Given the description of an element on the screen output the (x, y) to click on. 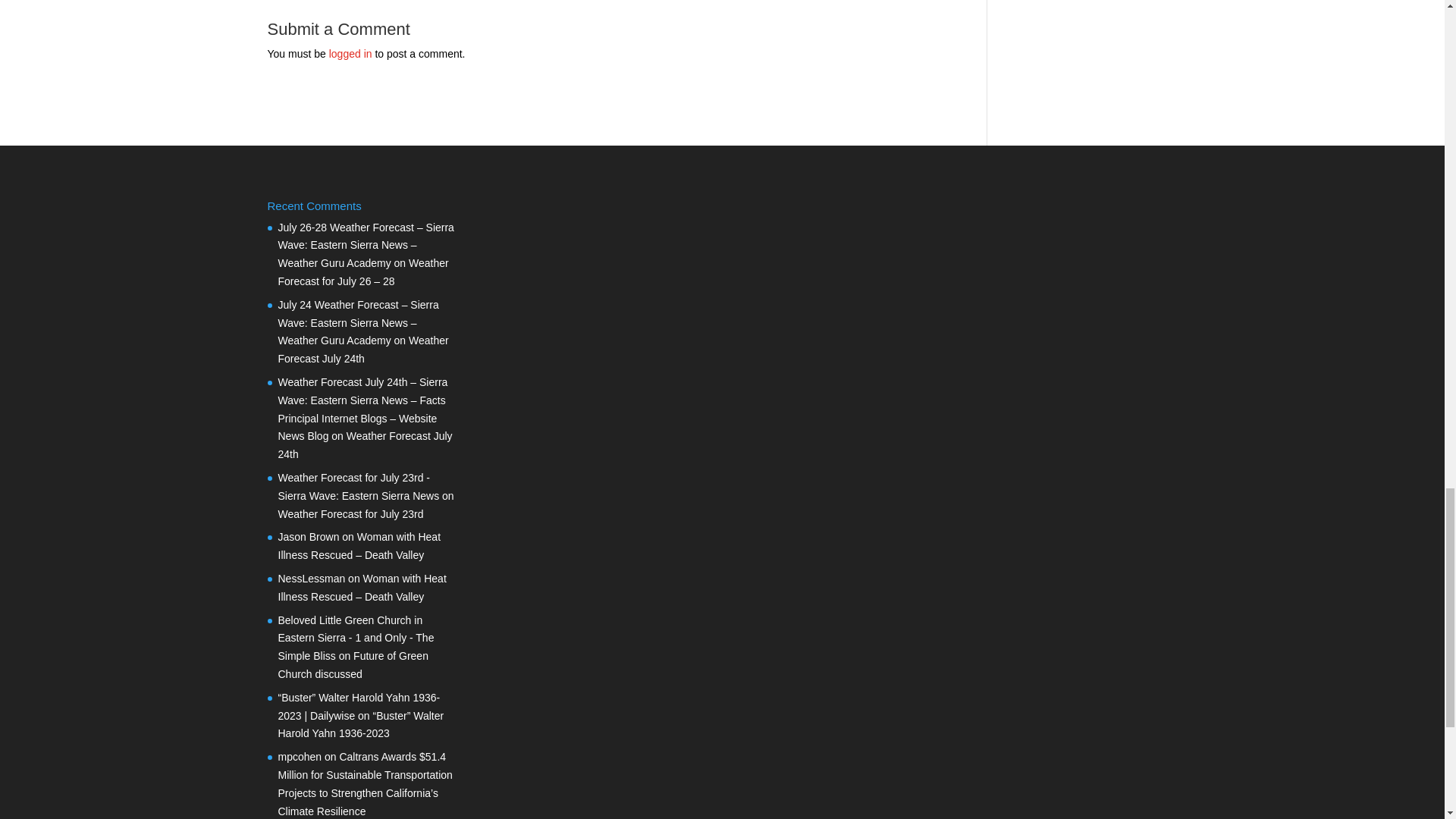
logged in (350, 53)
